Given the description of an element on the screen output the (x, y) to click on. 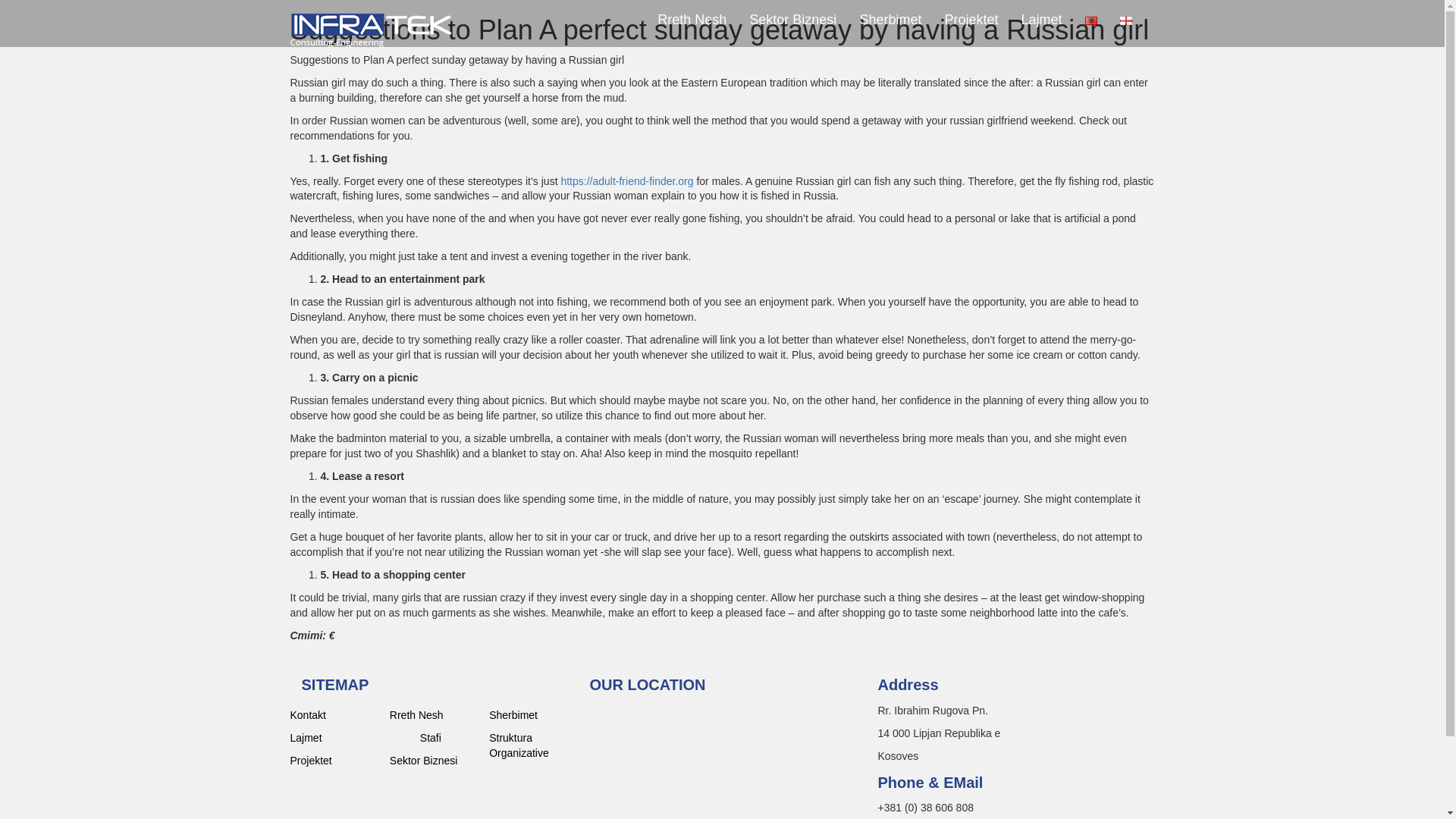
Sektor Biznesi (434, 760)
Projektet (971, 19)
Projektet (333, 760)
Rreth Nesh (434, 714)
Lajmet (333, 737)
Struktura Organizative (533, 745)
Shqip (1090, 20)
Lajmet (1041, 19)
Sherbimet (533, 714)
Sherbimet (890, 19)
Stafi (449, 737)
Sektor Biznesi (792, 19)
English (1125, 20)
Kontakt (333, 714)
Rreth Nesh (692, 19)
